Given the description of an element on the screen output the (x, y) to click on. 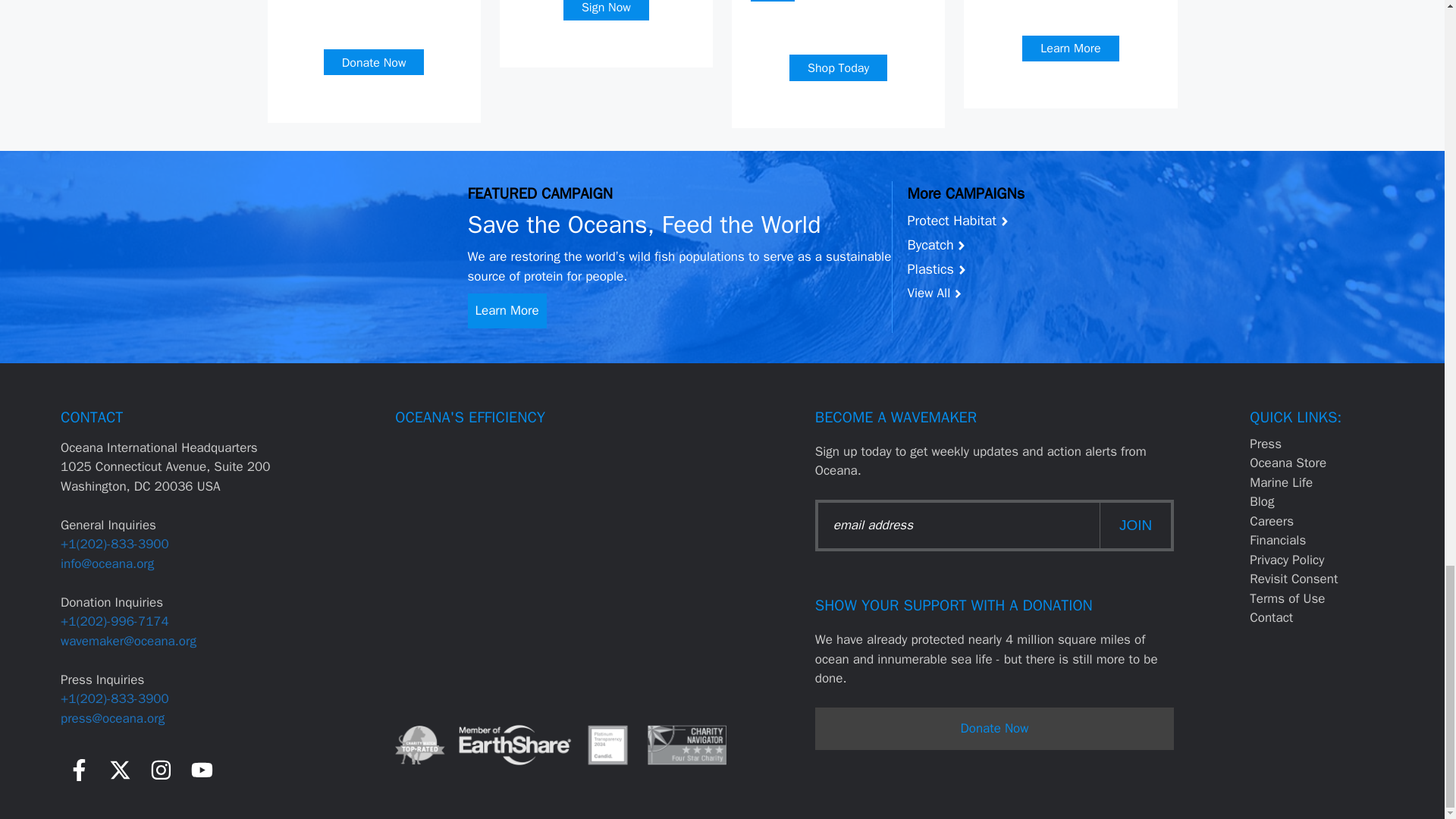
JOIN (1135, 525)
